Given the description of an element on the screen output the (x, y) to click on. 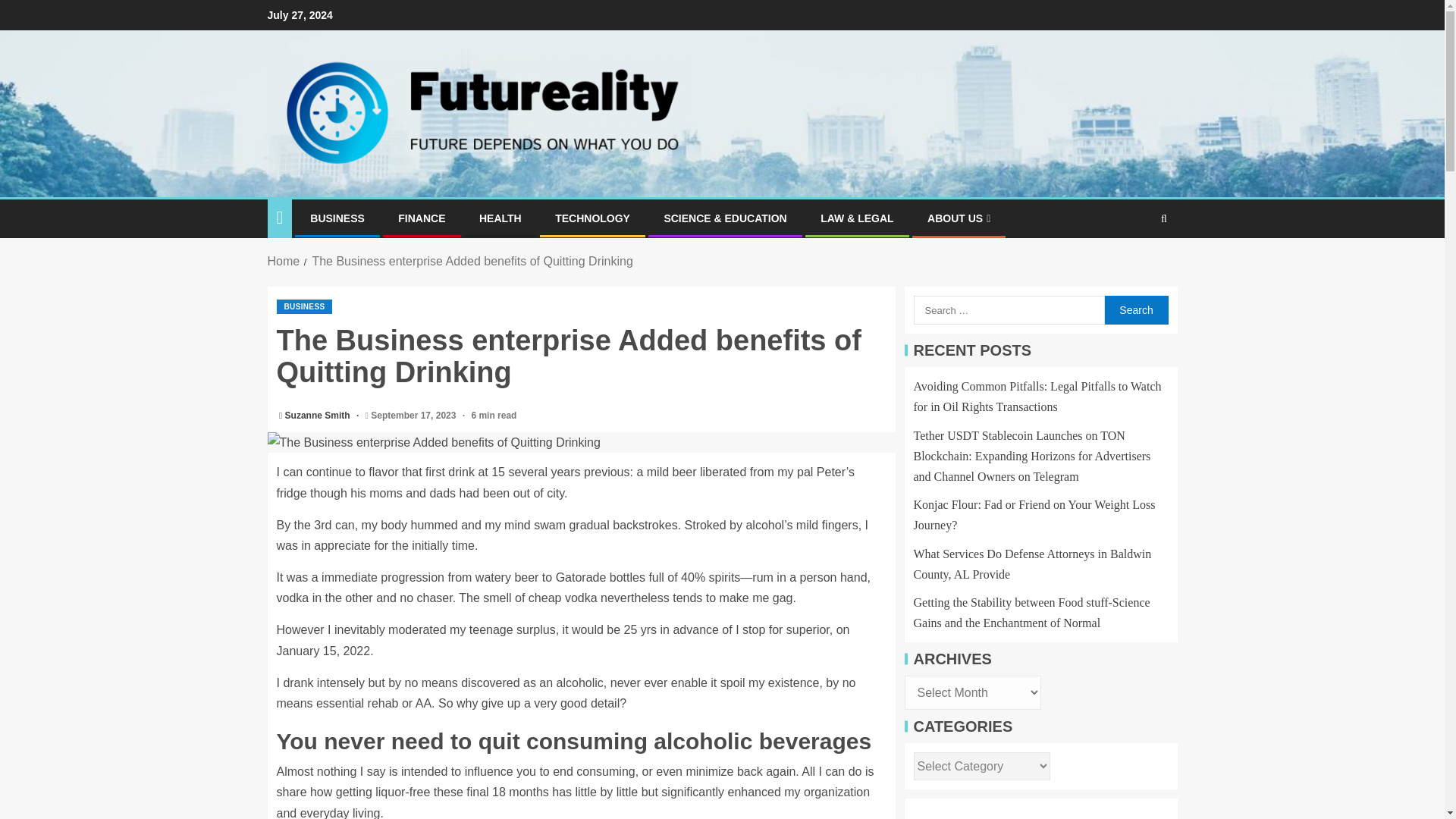
Home (282, 260)
TECHNOLOGY (592, 218)
Search (1135, 309)
The Business enterprise Added benefits of Quitting Drinking (471, 260)
HEALTH (500, 218)
The Business enterprise Added benefits of Quitting Drinking (580, 442)
Search (1135, 309)
ABOUT US (958, 218)
BUSINESS (337, 218)
FINANCE (421, 218)
Search (1133, 265)
BUSINESS (303, 306)
Suzanne Smith (318, 415)
